Given the description of an element on the screen output the (x, y) to click on. 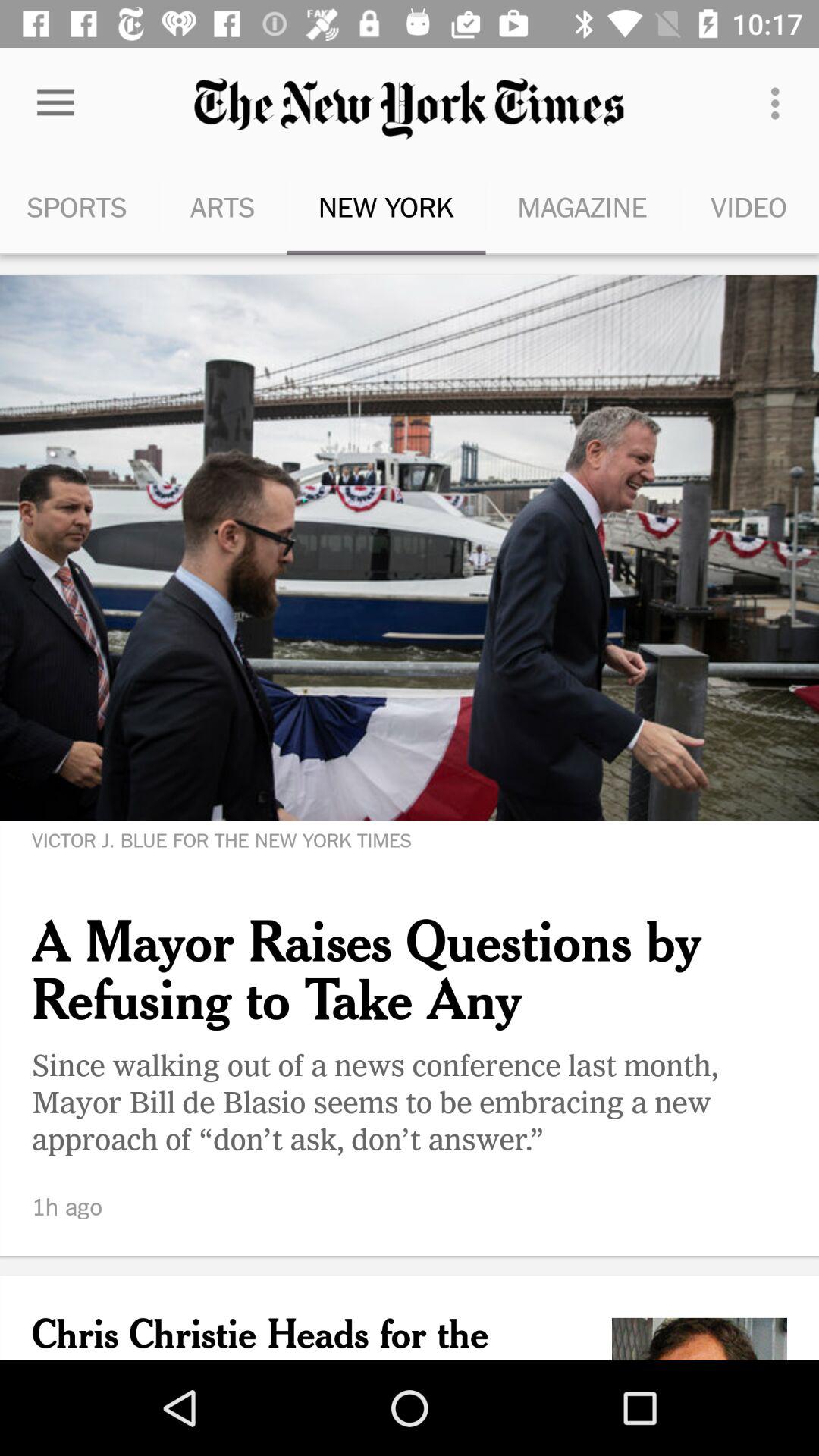
launch item next to the new york item (222, 206)
